Given the description of an element on the screen output the (x, y) to click on. 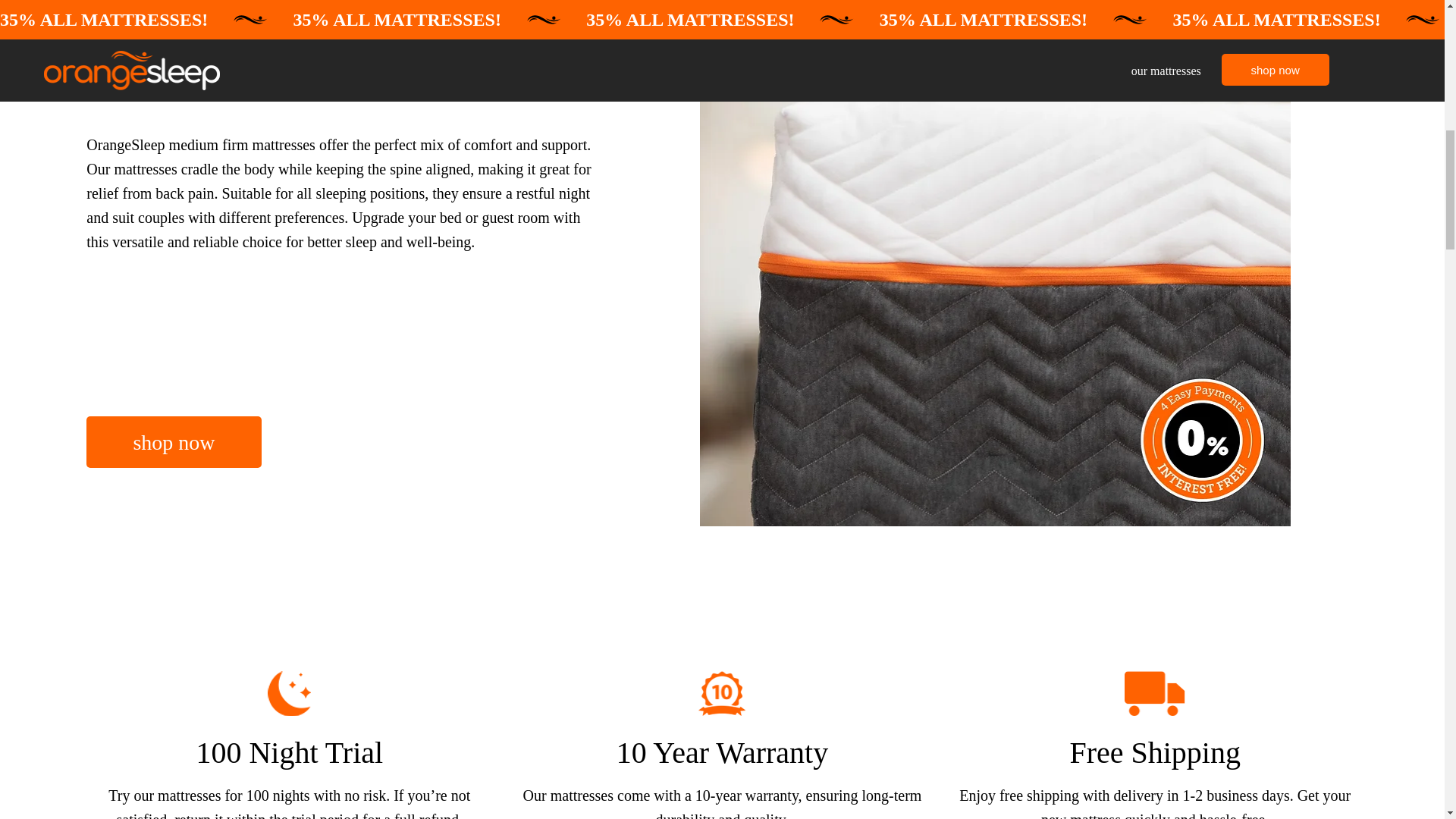
shop now (172, 441)
